Given the description of an element on the screen output the (x, y) to click on. 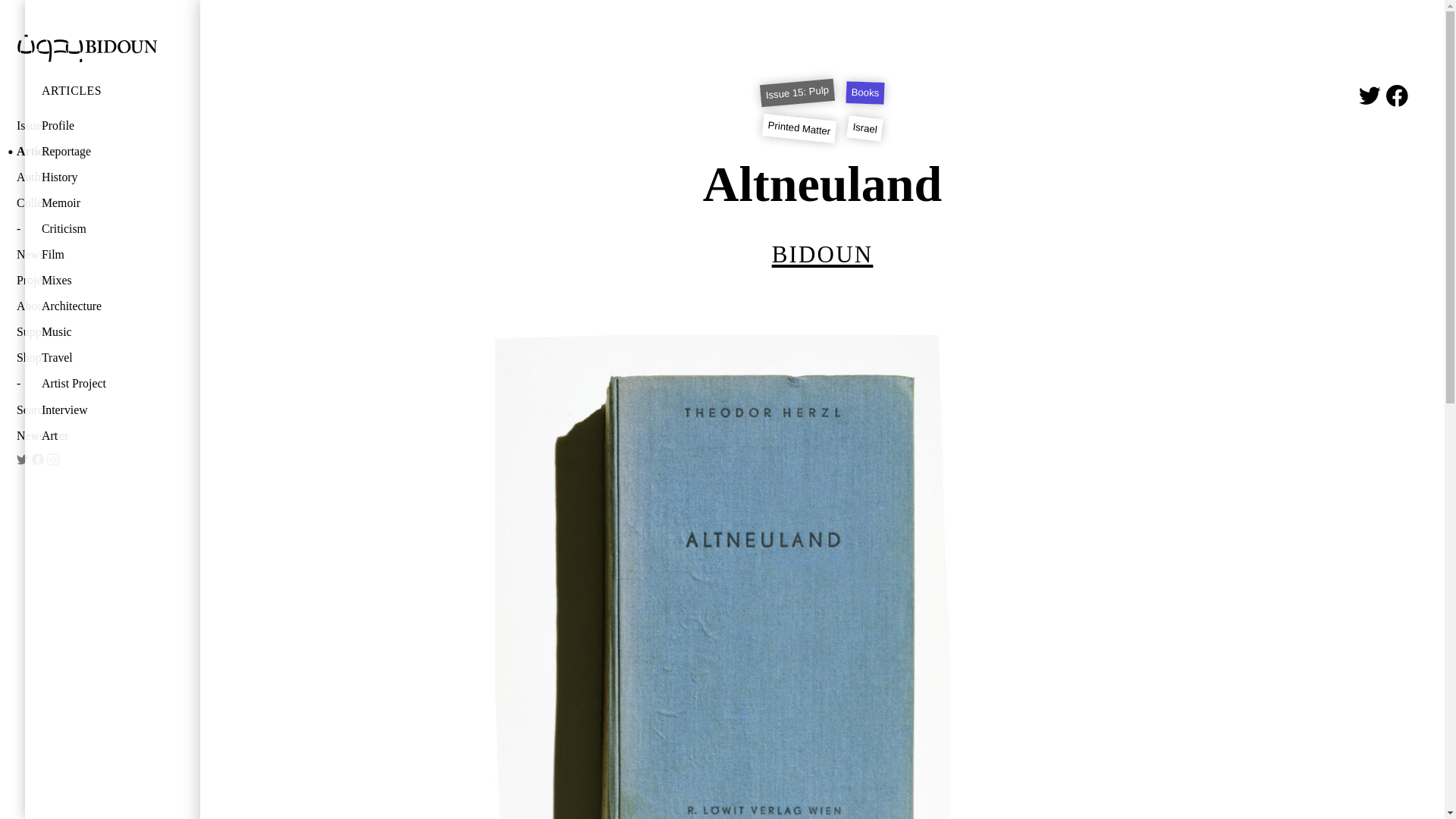
Twitter icon (1369, 95)
Film (100, 254)
Tweet Altneuland (1369, 95)
Interview (100, 410)
Search (74, 410)
Twitter icon (22, 459)
Projects (74, 280)
Instagram icon (52, 459)
Travel (100, 357)
Profile (100, 126)
Criticism (100, 229)
Twitter (22, 459)
Support (74, 332)
Authors (74, 177)
Facebook icon (1396, 95)
